Given the description of an element on the screen output the (x, y) to click on. 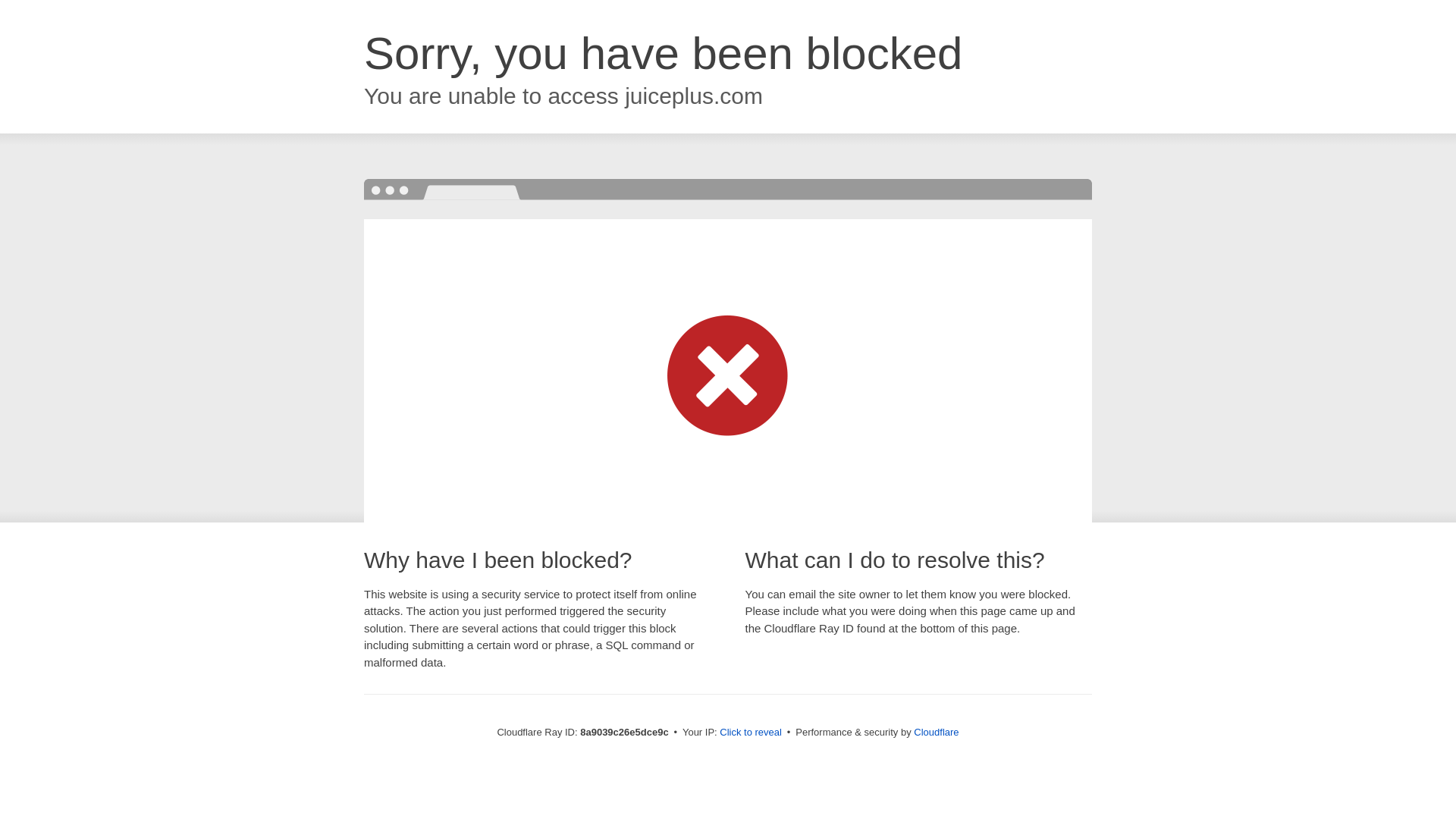
Cloudflare (936, 731)
Click to reveal (750, 732)
